Given the description of an element on the screen output the (x, y) to click on. 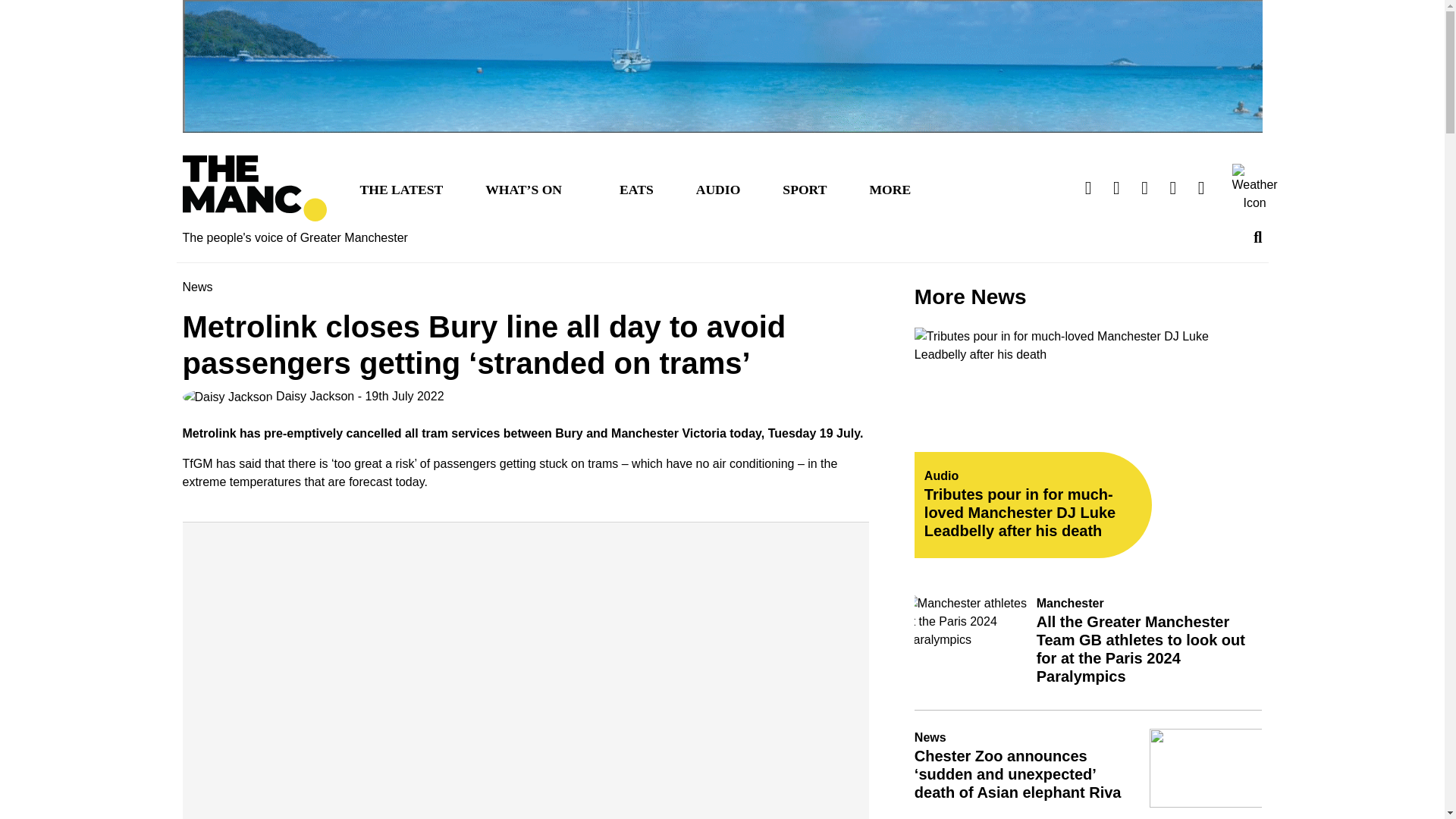
Daisy Jackson (267, 396)
THE LATEST (400, 188)
EATS (635, 188)
MORE (890, 188)
The Manc (254, 188)
SPORT (804, 188)
AUDIO (718, 188)
